Given the description of an element on the screen output the (x, y) to click on. 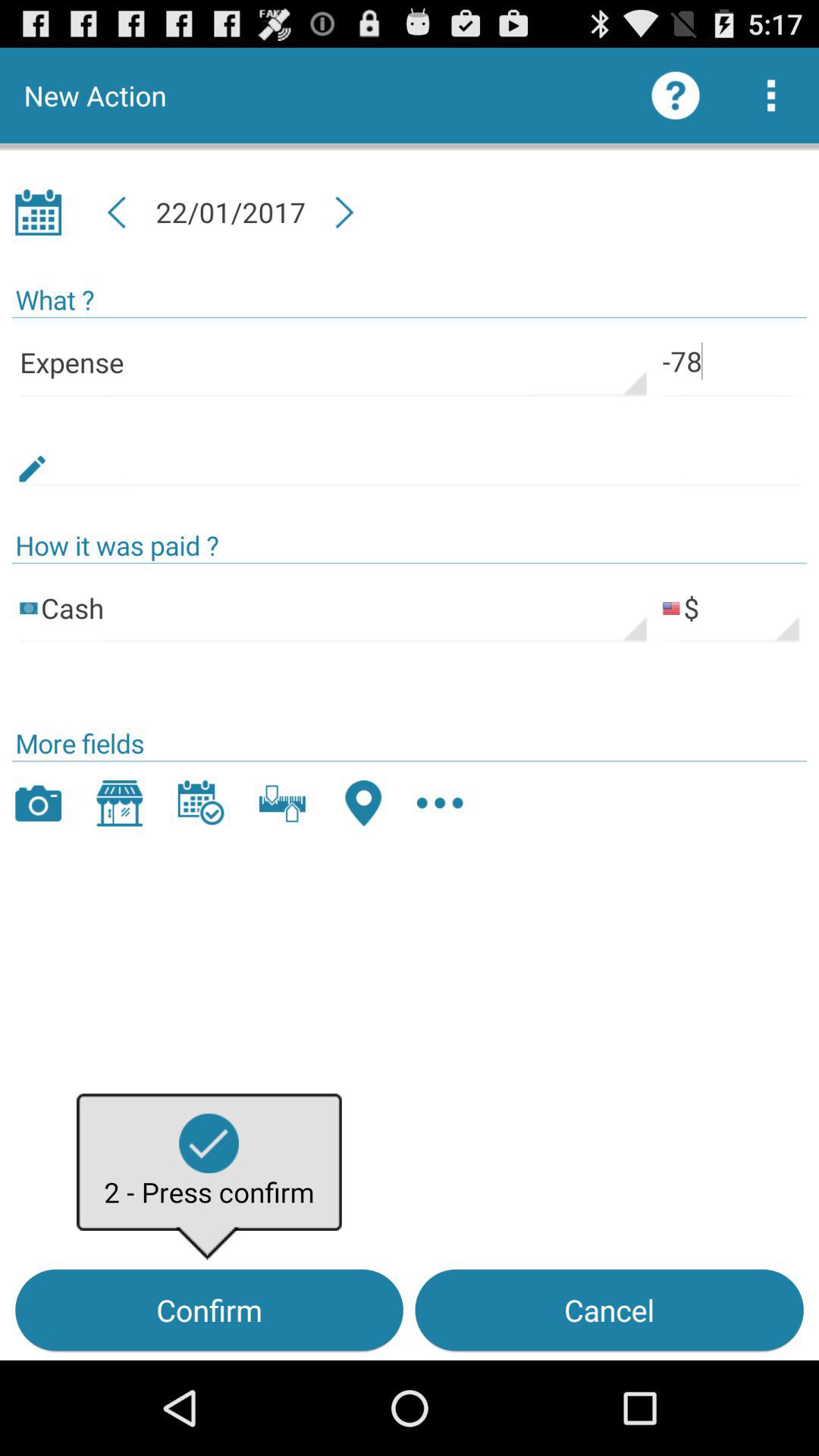
edit text (409, 451)
